Given the description of an element on the screen output the (x, y) to click on. 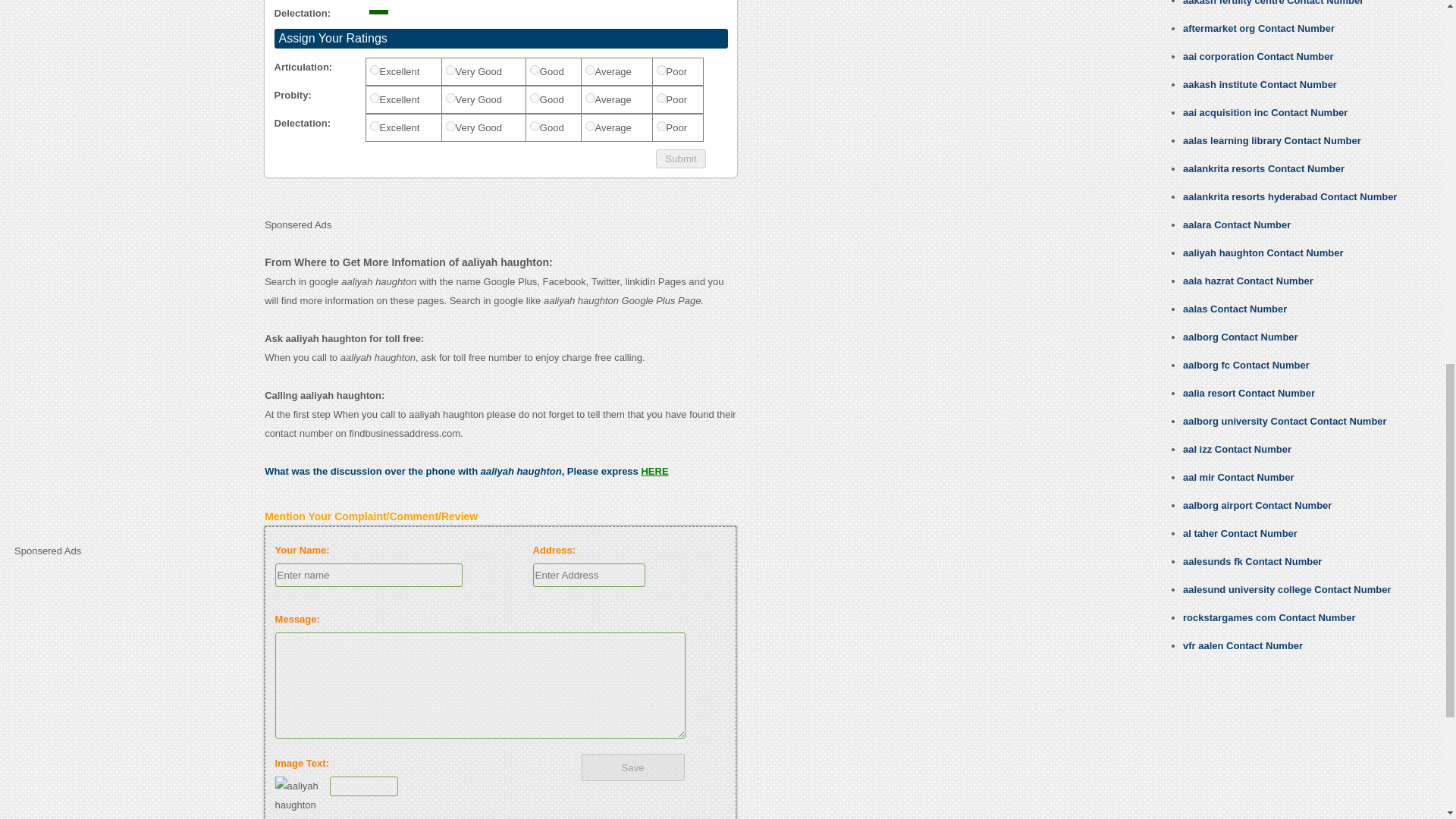
aal izz Contact Number (1236, 449)
aalankrita resorts hyderabad Contact Number (1289, 196)
aalborg university Contact Contact Number (1284, 420)
Submit (680, 157)
-4 (661, 97)
aalborg fc Contact Number (1245, 365)
Save (632, 767)
aakash institute Contact Number (1259, 84)
aalborg airport Contact Number (1257, 505)
aalas Contact Number (1234, 308)
